Given the description of an element on the screen output the (x, y) to click on. 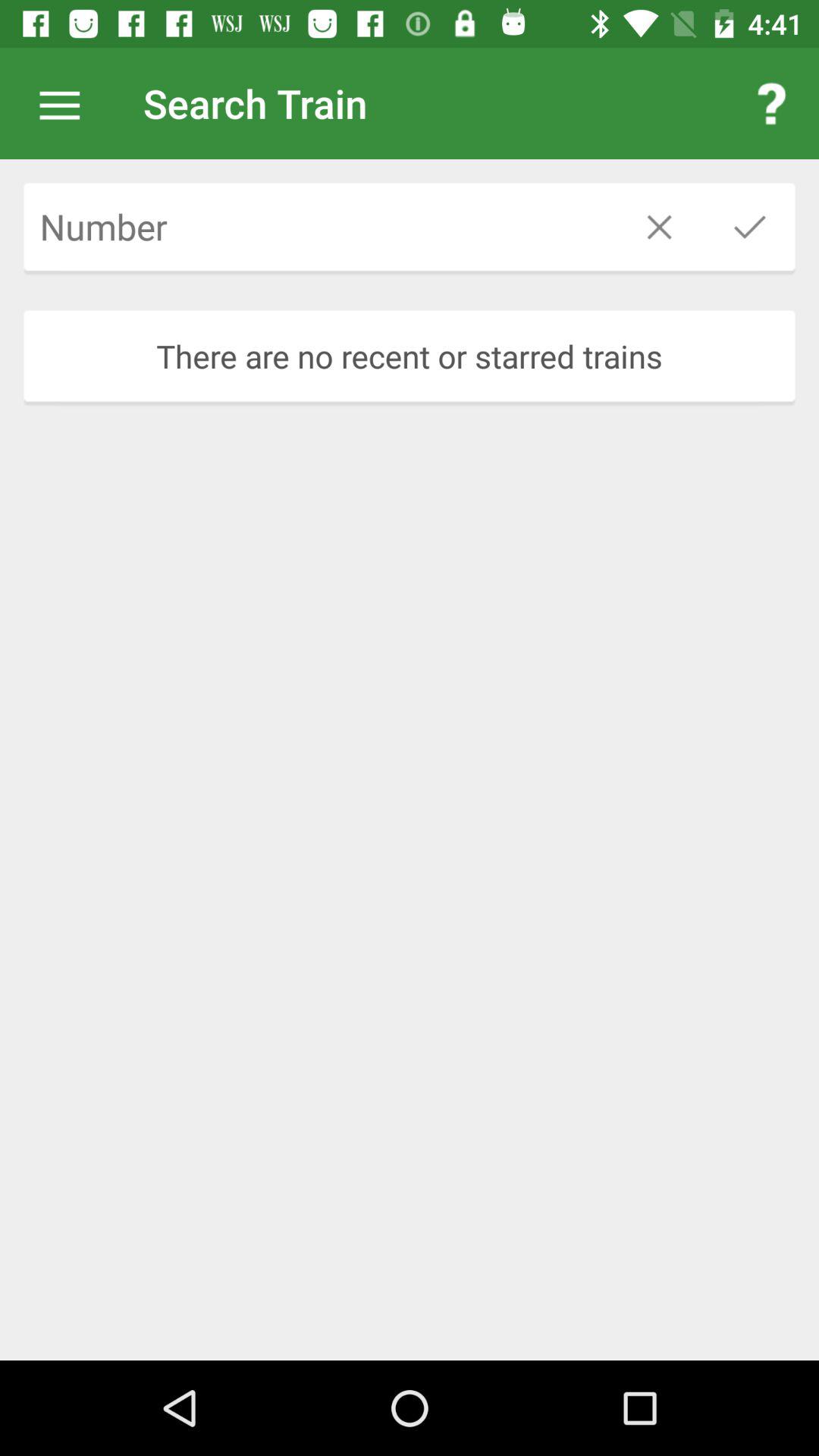
choose the icon above the there are no (659, 226)
